Given the description of an element on the screen output the (x, y) to click on. 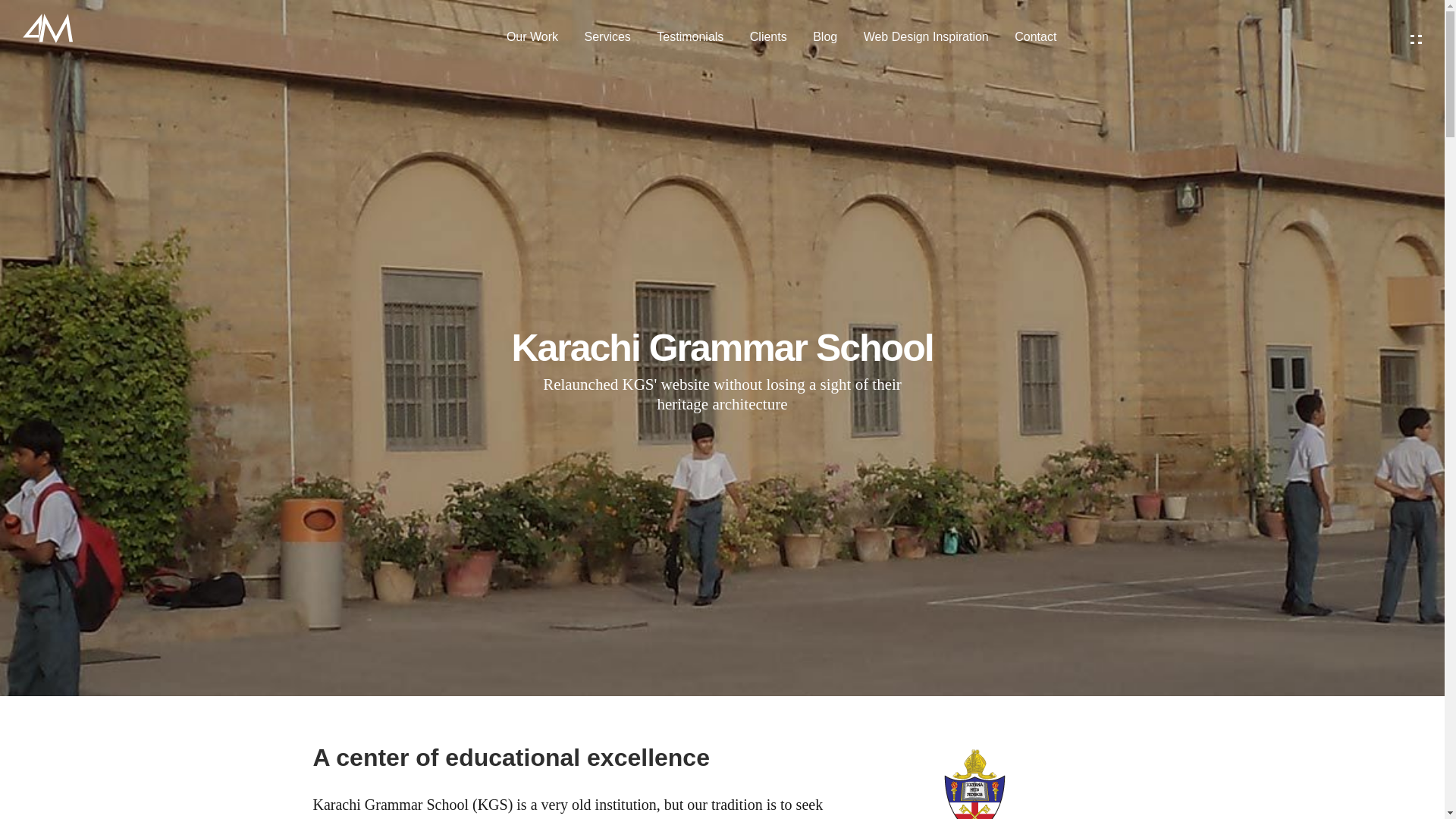
Contact (1035, 36)
Web Design Inspiration (925, 36)
Our Work (531, 36)
Blog (824, 36)
Clients (768, 36)
Testimonials (689, 36)
Services (606, 36)
Explore Our Work (1416, 39)
